Given the description of an element on the screen output the (x, y) to click on. 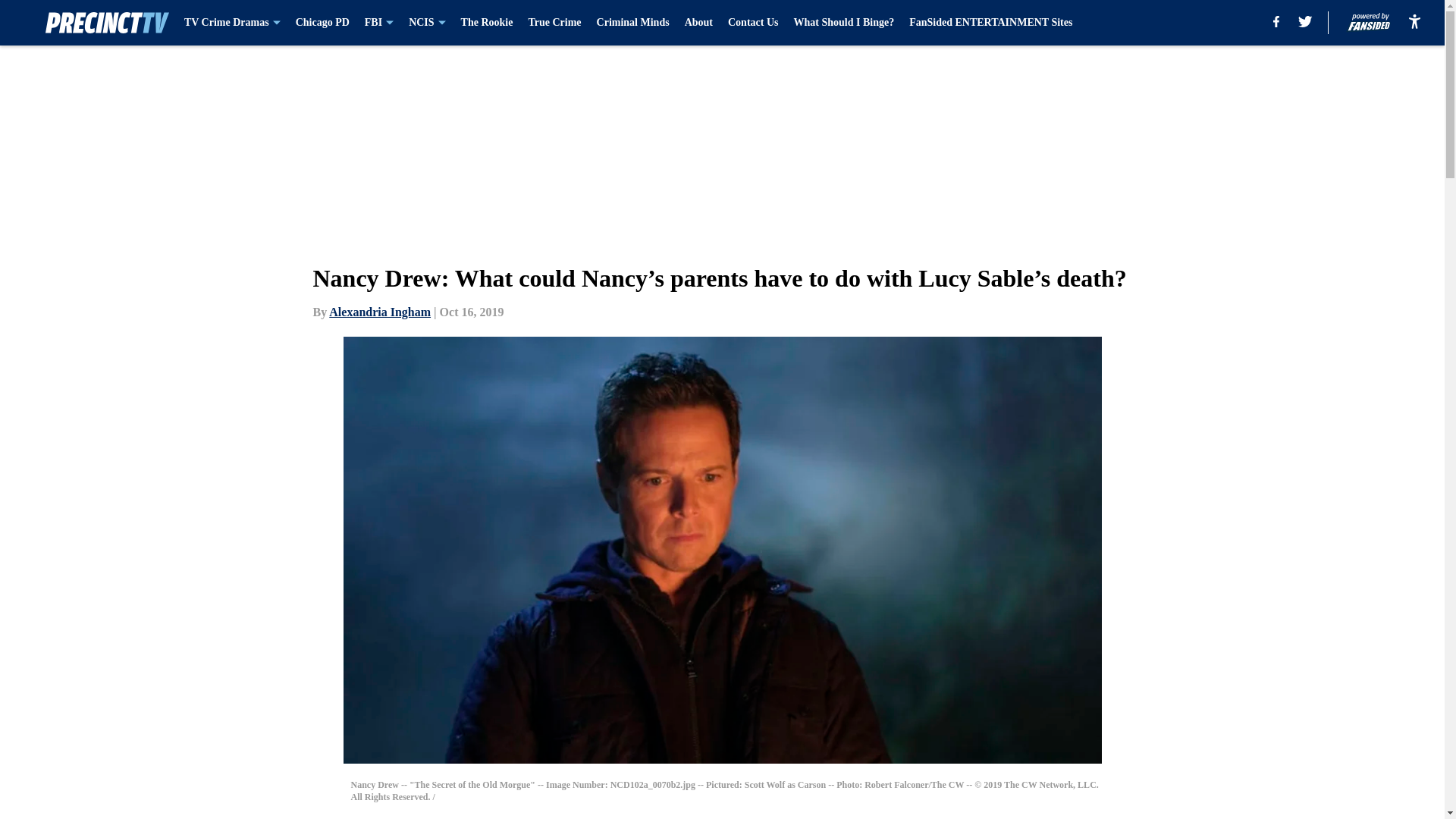
FanSided ENTERTAINMENT Sites (989, 22)
Alexandria Ingham (379, 311)
True Crime (553, 22)
What Should I Binge? (843, 22)
Criminal Minds (632, 22)
Contact Us (753, 22)
Chicago PD (322, 22)
About (698, 22)
The Rookie (487, 22)
